Given the description of an element on the screen output the (x, y) to click on. 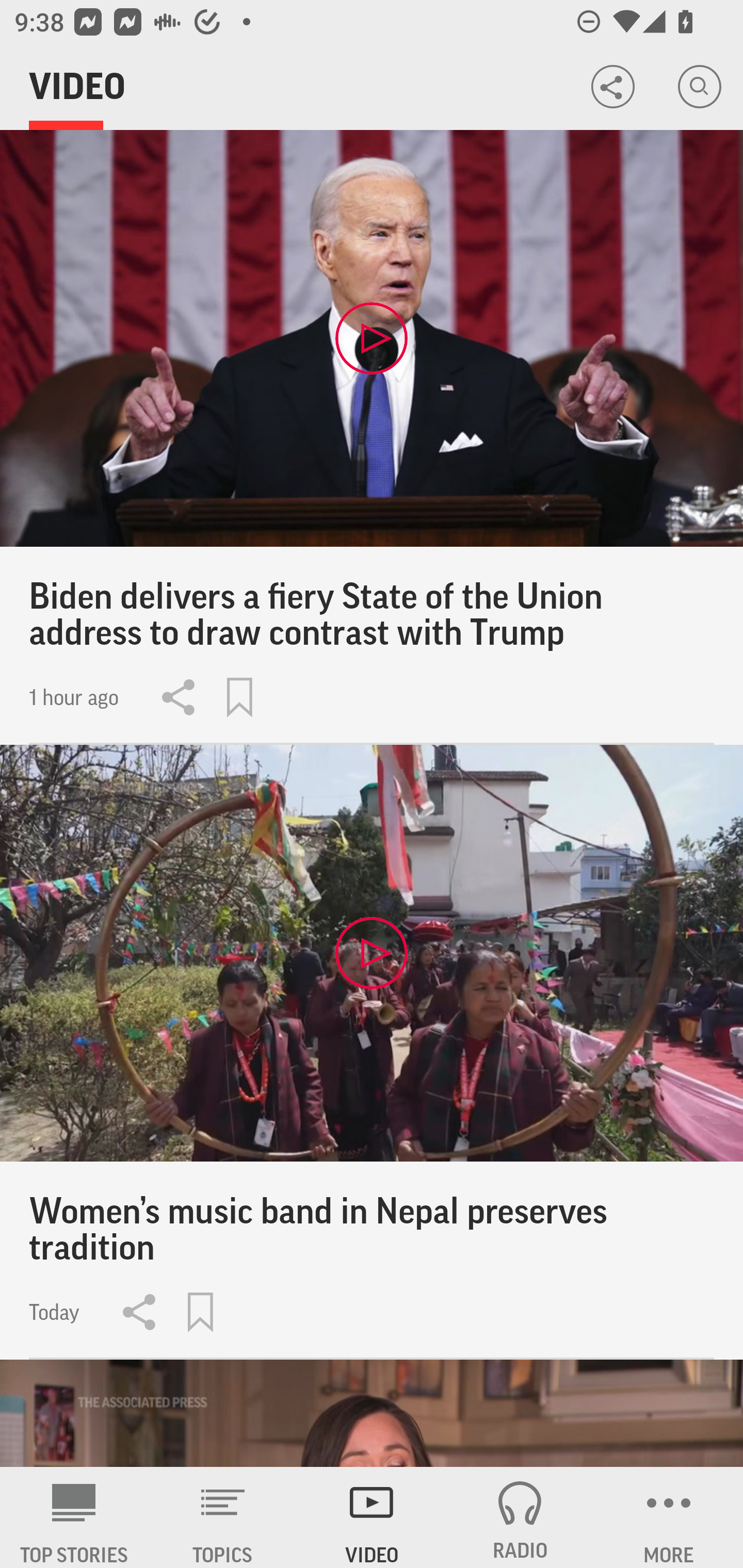
AP News TOP STORIES (74, 1517)
TOPICS (222, 1517)
VIDEO (371, 1517)
RADIO (519, 1517)
MORE (668, 1517)
